Given the description of an element on the screen output the (x, y) to click on. 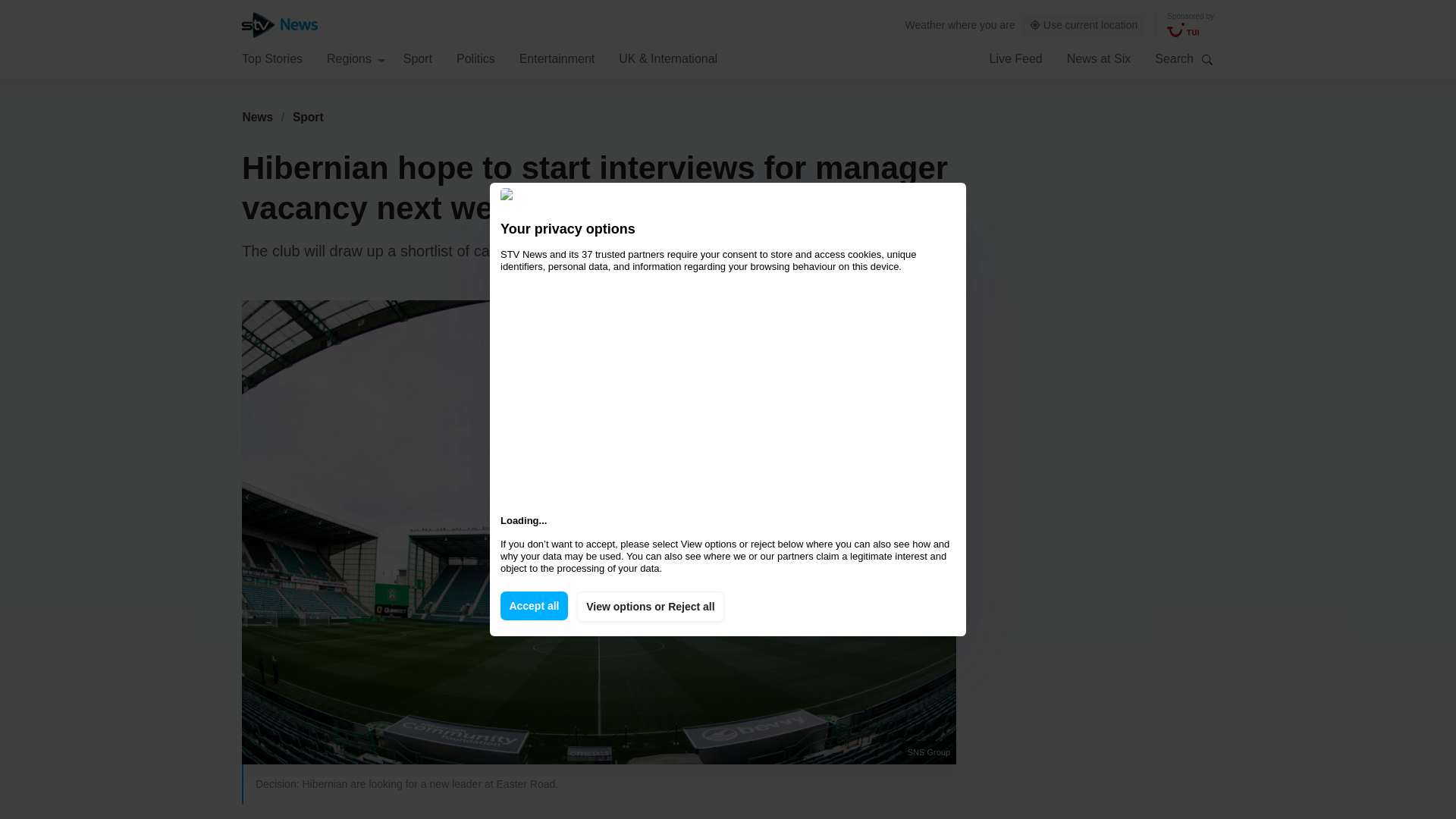
Top Stories (271, 57)
Search (1206, 59)
Sport (308, 116)
Live Feed (1015, 57)
Politics (476, 57)
Weather (924, 24)
News at Six (1099, 57)
Entertainment (557, 57)
Use current location (1083, 25)
